Given the description of an element on the screen output the (x, y) to click on. 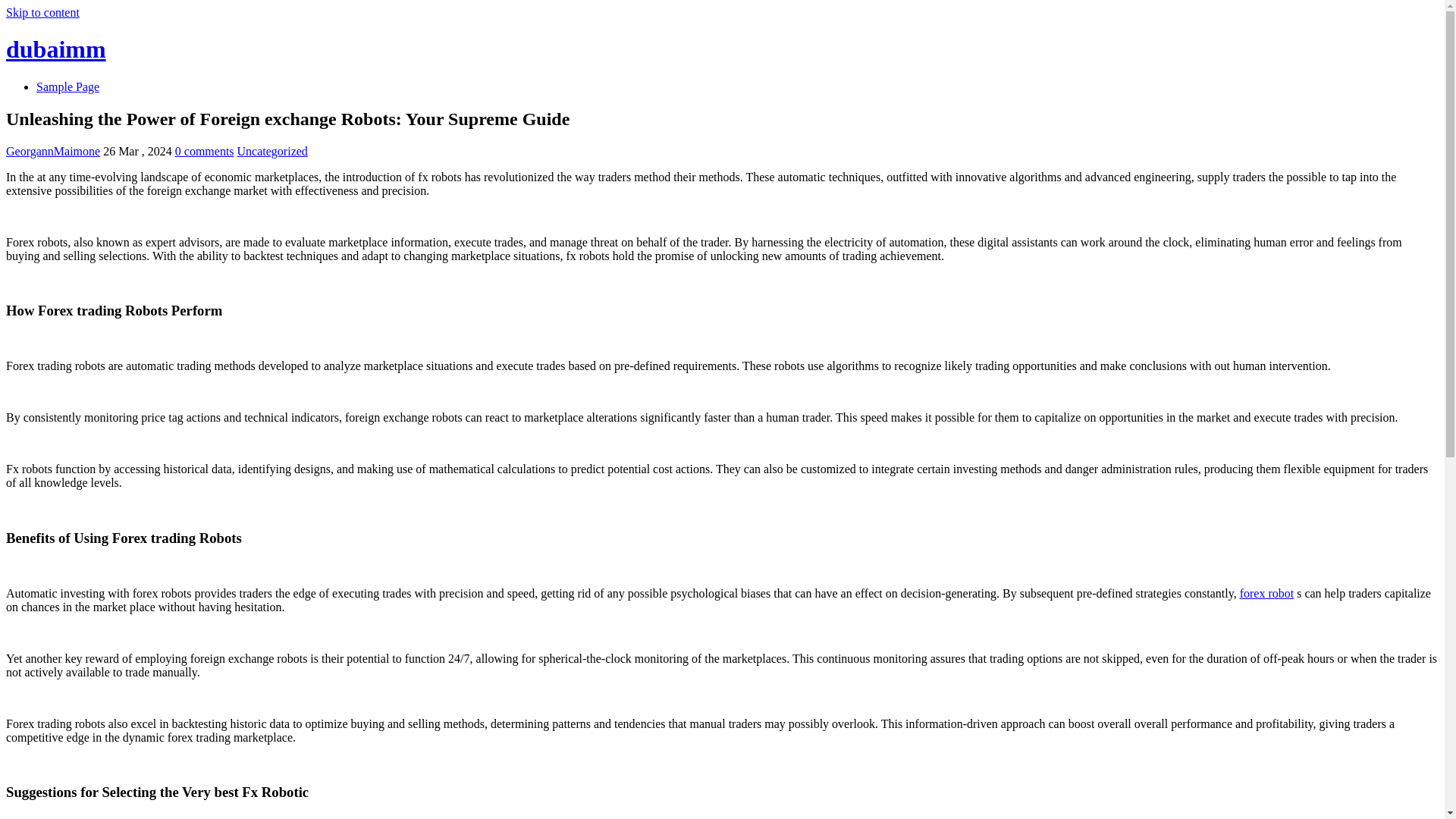
GeorgannMaimone (52, 151)
Uncategorized (272, 151)
Skip to content (42, 11)
Sample Page (67, 86)
0 comments (204, 151)
forex robot (1267, 593)
dubaimm (55, 49)
